Given the description of an element on the screen output the (x, y) to click on. 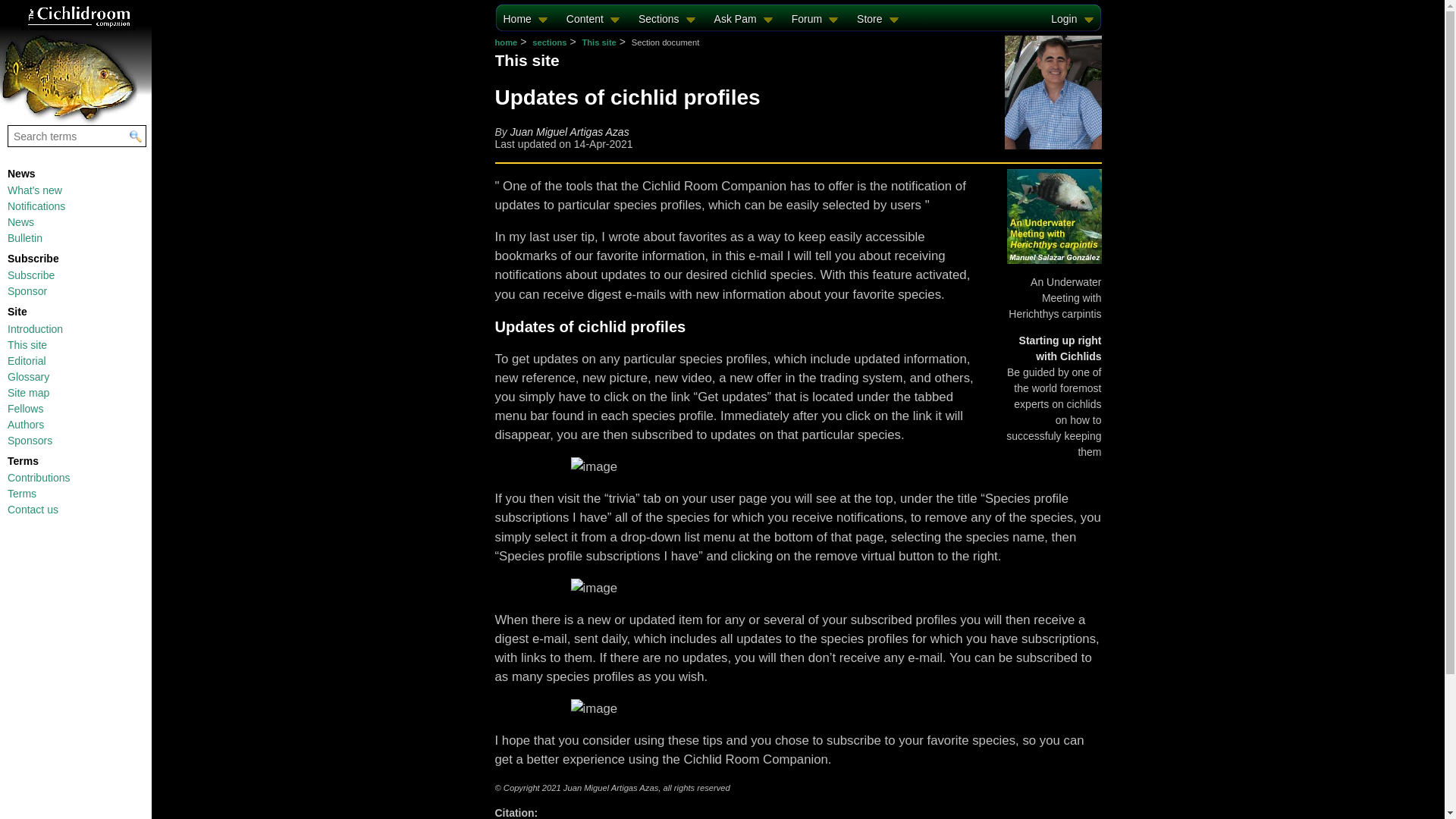
Site map (28, 392)
Content (593, 18)
Terms (21, 493)
Section document (38, 477)
Sponsors (29, 440)
on (7, 17)
News (20, 222)
Sponsor (26, 291)
Introduction (34, 328)
Submit (135, 136)
Home (525, 18)
Contributions (38, 477)
cichlids (593, 18)
Contact us (32, 509)
section index (26, 345)
